Given the description of an element on the screen output the (x, y) to click on. 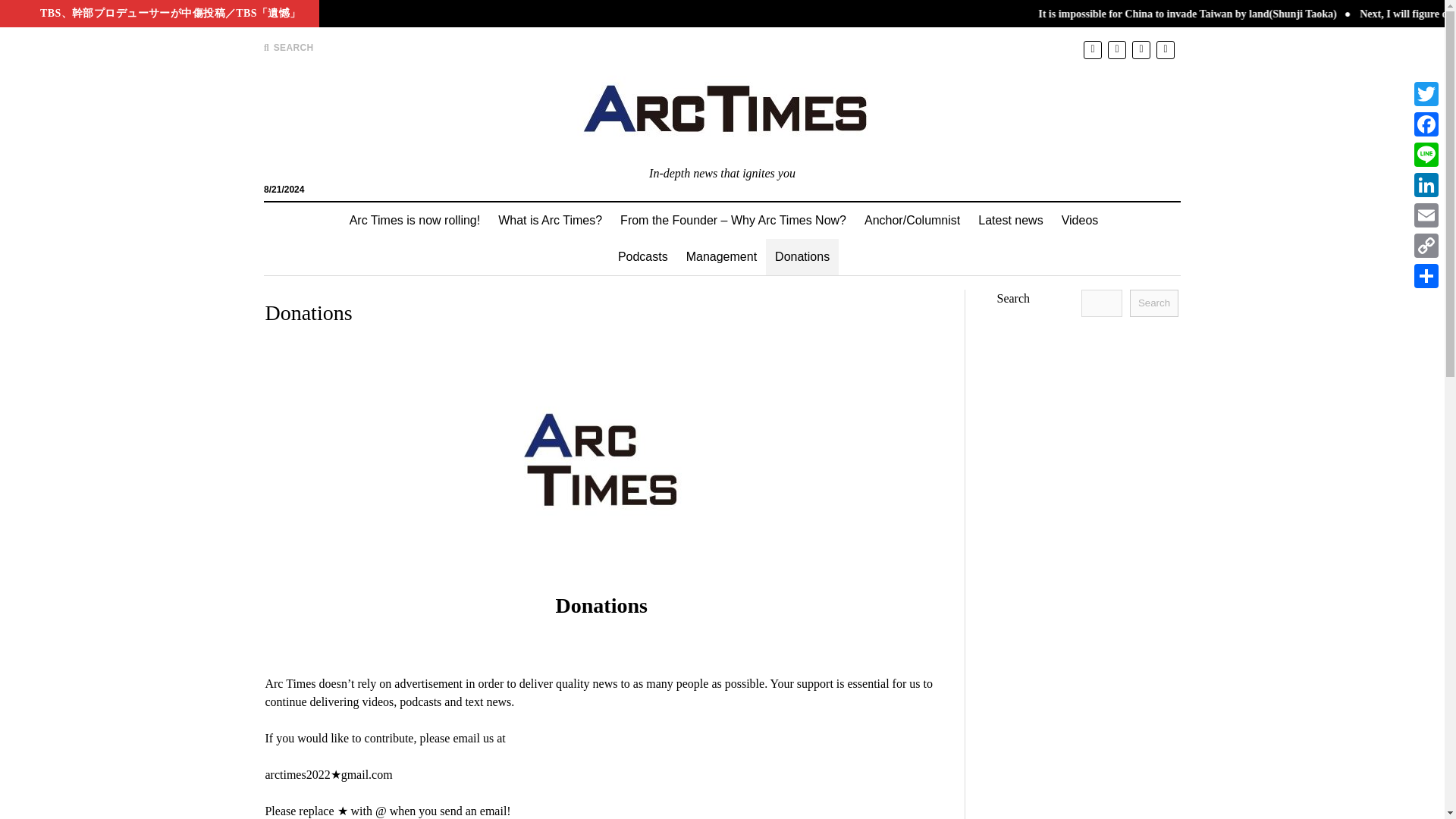
Videos (1080, 220)
Search (1153, 302)
Podcasts (642, 257)
SEARCH (288, 47)
Management (721, 257)
Arc Times is now rolling! (414, 220)
Donations (801, 257)
Search (945, 129)
What is Arc Times? (550, 220)
Latest news (1010, 220)
